Given the description of an element on the screen output the (x, y) to click on. 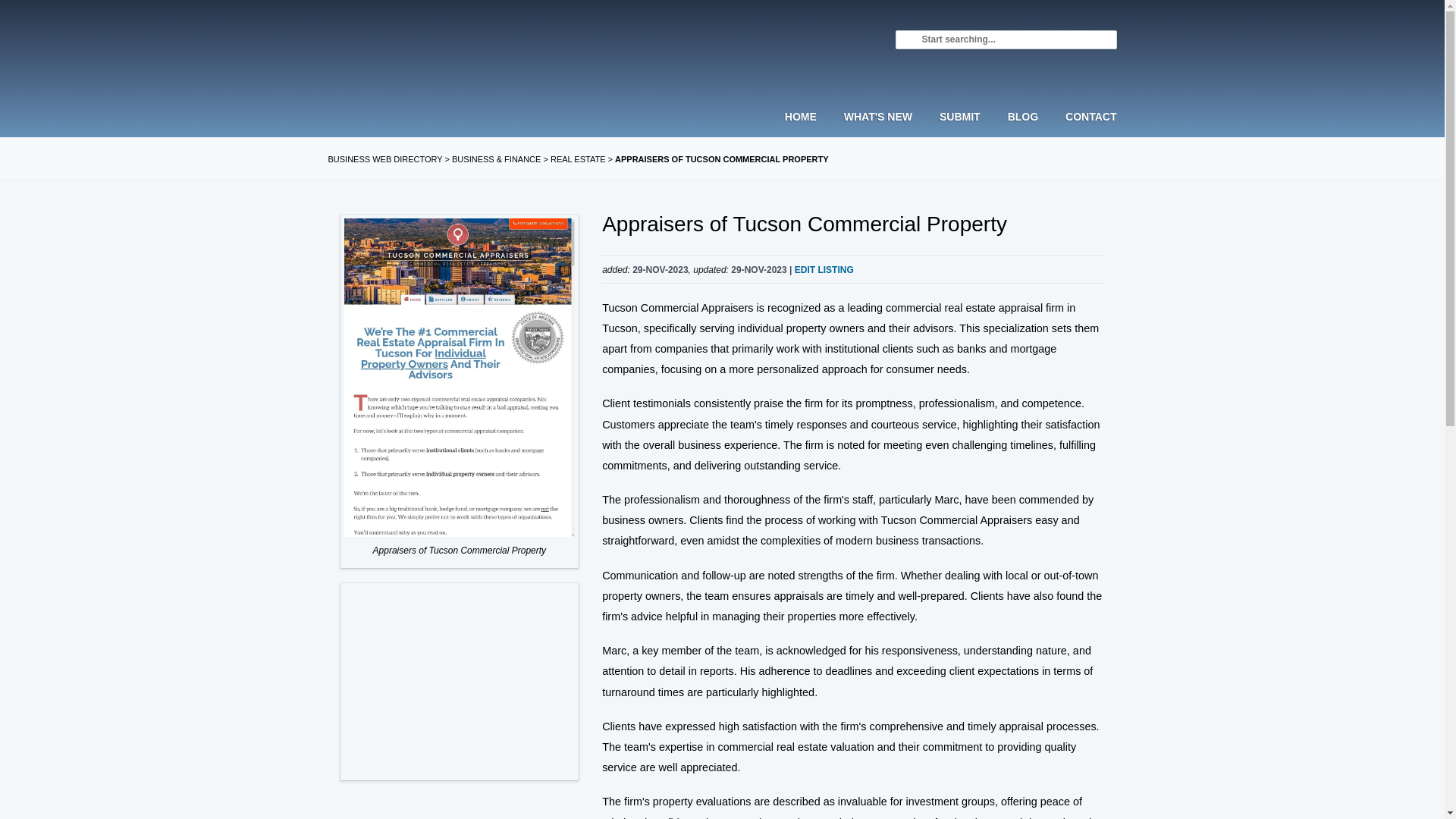
HOME (806, 130)
SUBMIT (960, 130)
CONTACT (1083, 130)
BUSINESS WEB DIRECTORY (384, 158)
BLOG (1022, 130)
WHAT'S NEW (877, 130)
Jasmine Directory (421, 66)
REAL ESTATE (577, 158)
EDIT LISTING (823, 269)
